Given the description of an element on the screen output the (x, y) to click on. 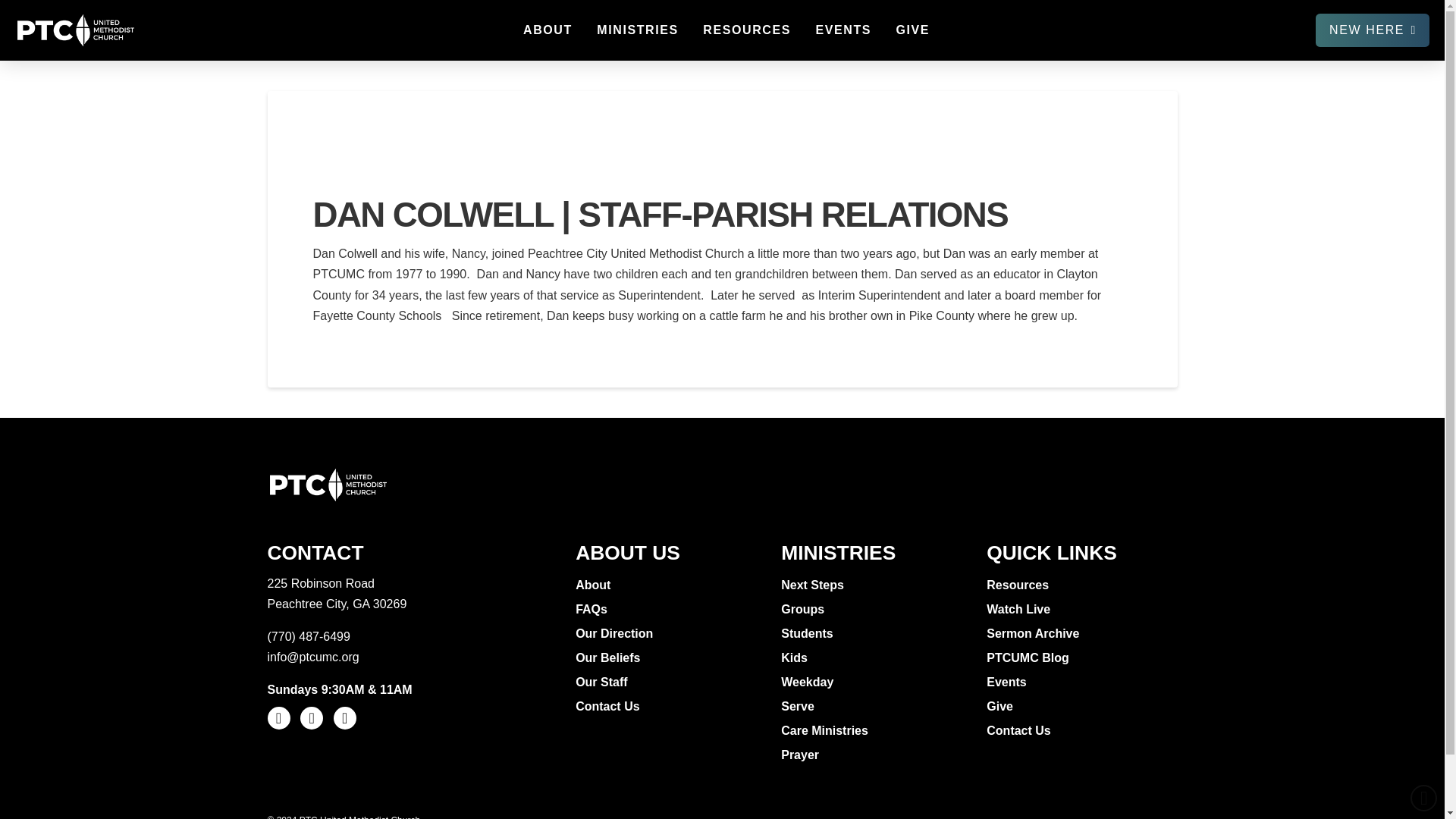
ABOUT (547, 30)
Resources (1019, 585)
MINISTRIES (636, 30)
Our Staff (602, 682)
Students (807, 633)
Groups (804, 609)
GIVE (911, 30)
Contact Us (1020, 730)
PTCUMC Blog (1029, 658)
About (594, 585)
Kids (795, 658)
RESOURCES (746, 30)
Back to Top (1423, 797)
Next Steps (813, 585)
FAQs (593, 609)
